Given the description of an element on the screen output the (x, y) to click on. 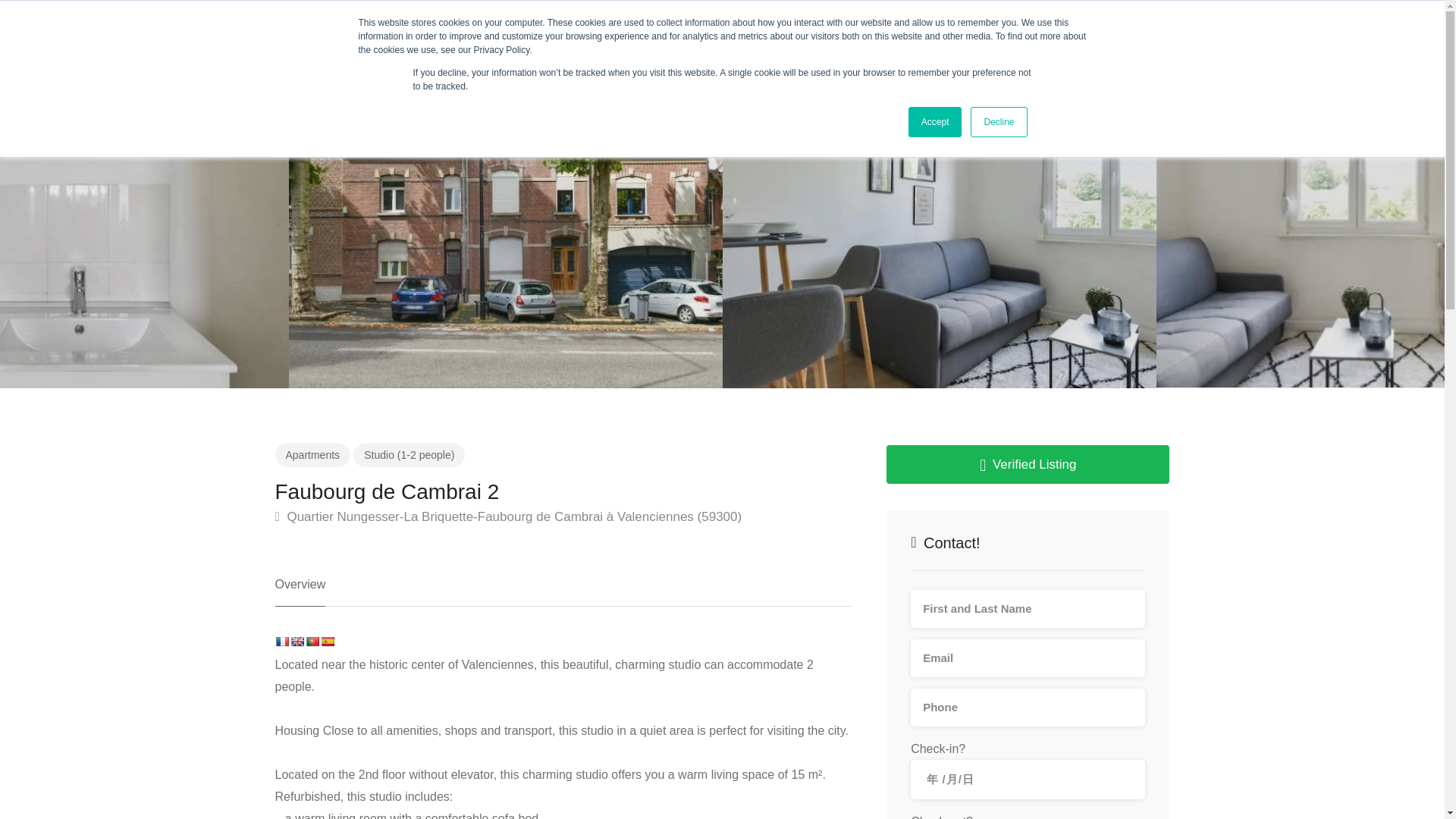
FAQ (506, 30)
About us (152, 30)
Portuguese (311, 641)
Customer Support (379, 30)
Contact (292, 30)
Spanish (326, 641)
Blog (457, 30)
Accept (935, 122)
Sign In (1383, 30)
Services (224, 30)
Decline (998, 122)
English (295, 641)
Gotoo France (58, 29)
French (281, 641)
